Given the description of an element on the screen output the (x, y) to click on. 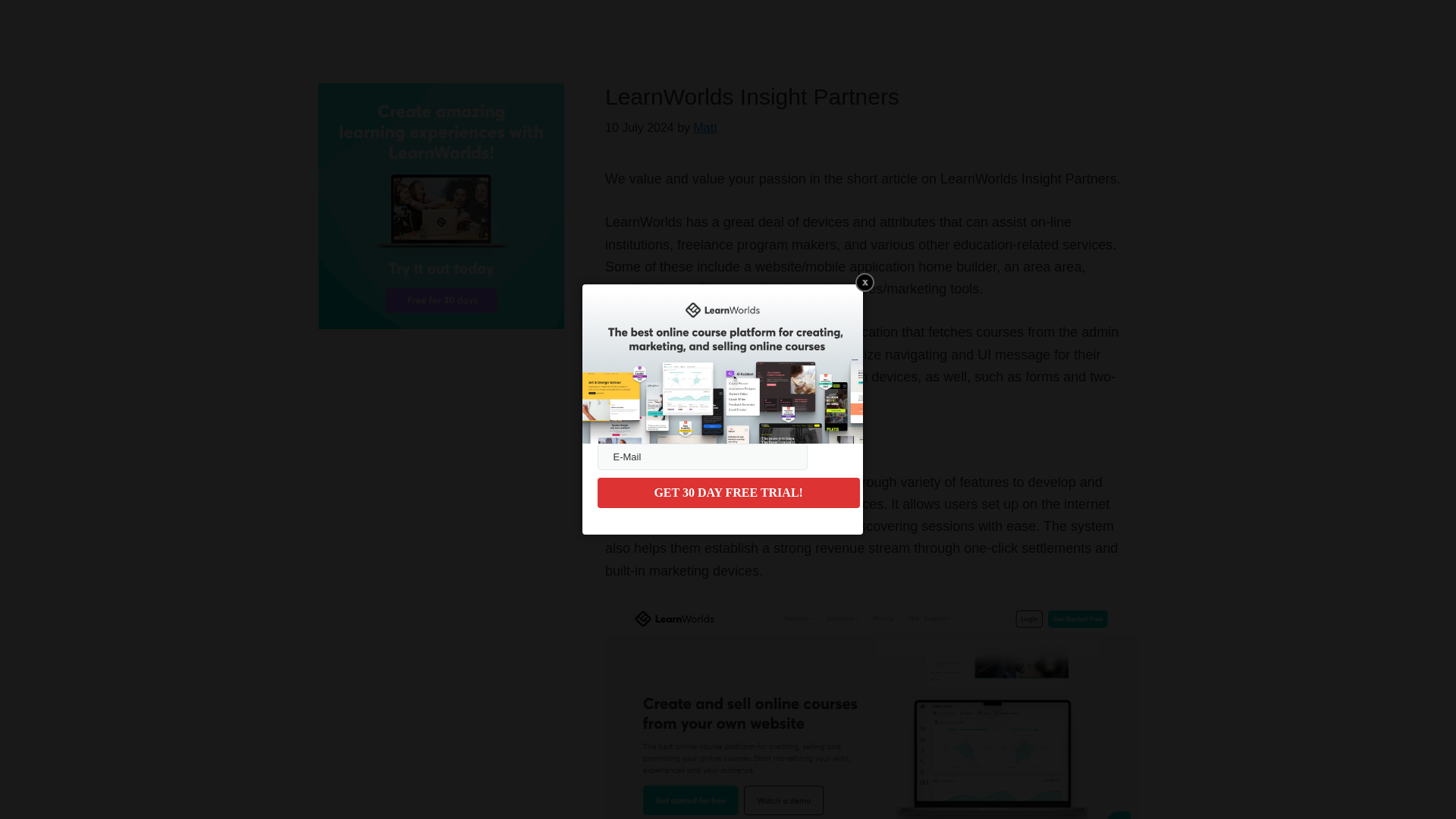
GET 30 DAY FREE TRIAL! (728, 492)
Matt (705, 127)
GET 30 DAY FREE TRIAL! (728, 492)
